Given the description of an element on the screen output the (x, y) to click on. 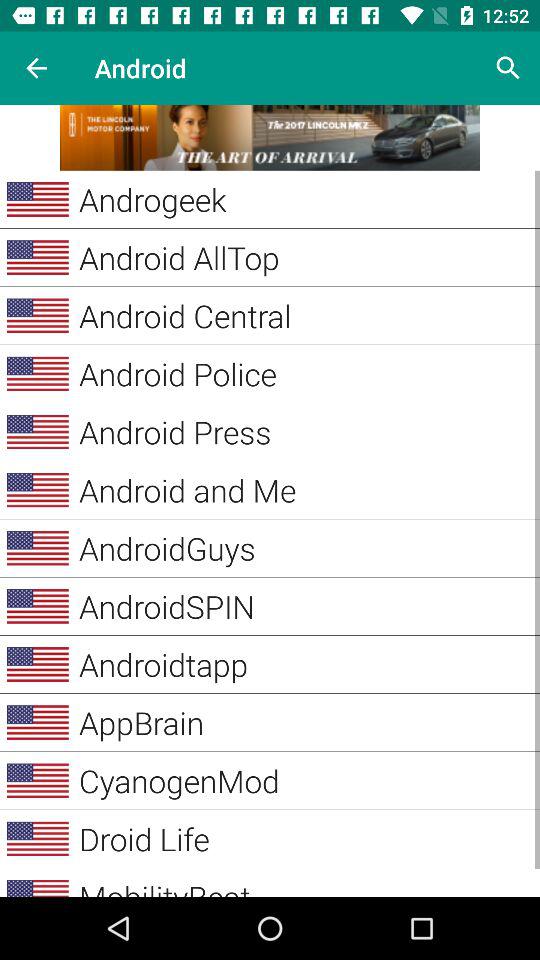
search bar (508, 67)
